Given the description of an element on the screen output the (x, y) to click on. 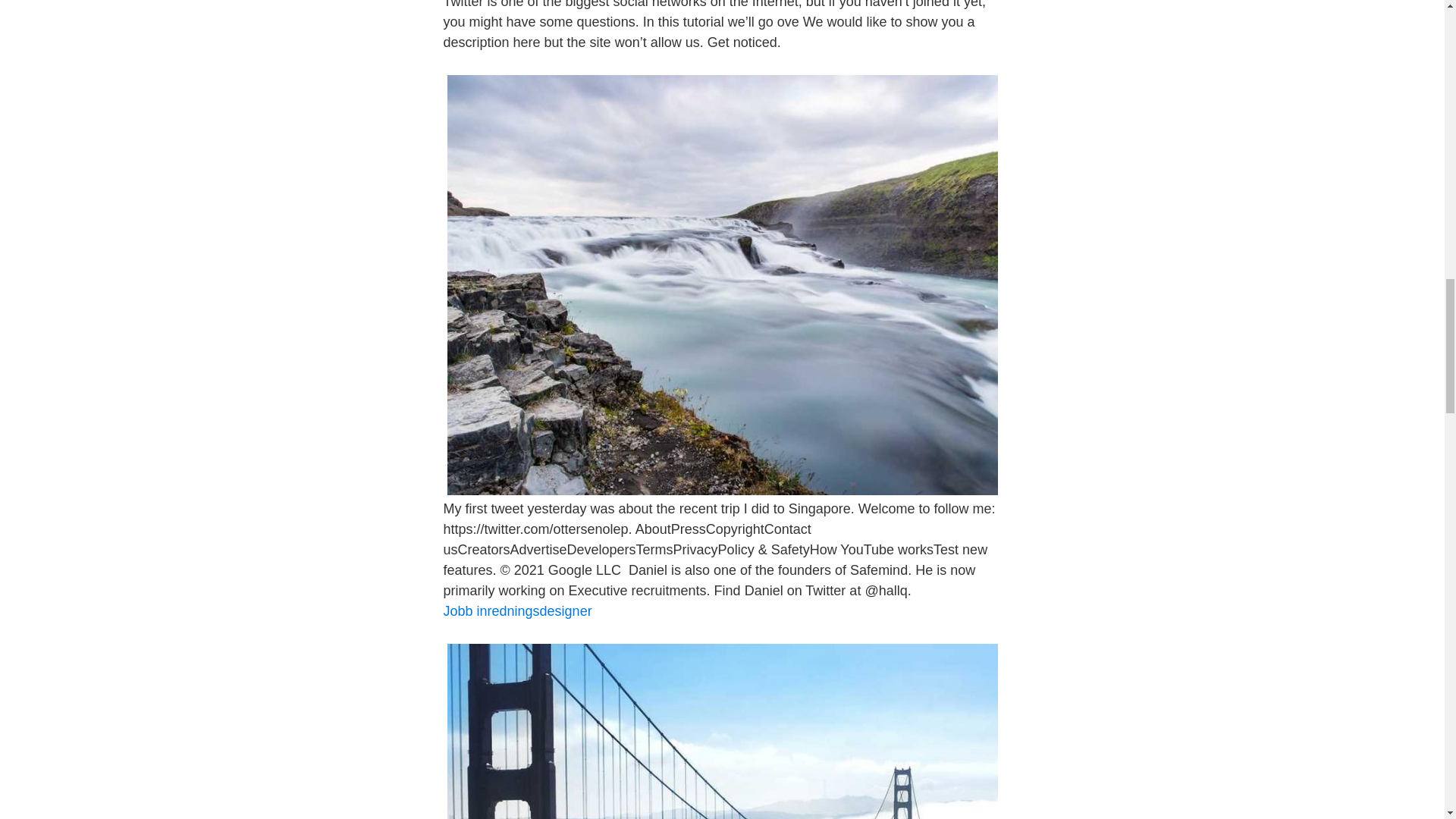
Jobb inredningsdesigner (516, 611)
